Given the description of an element on the screen output the (x, y) to click on. 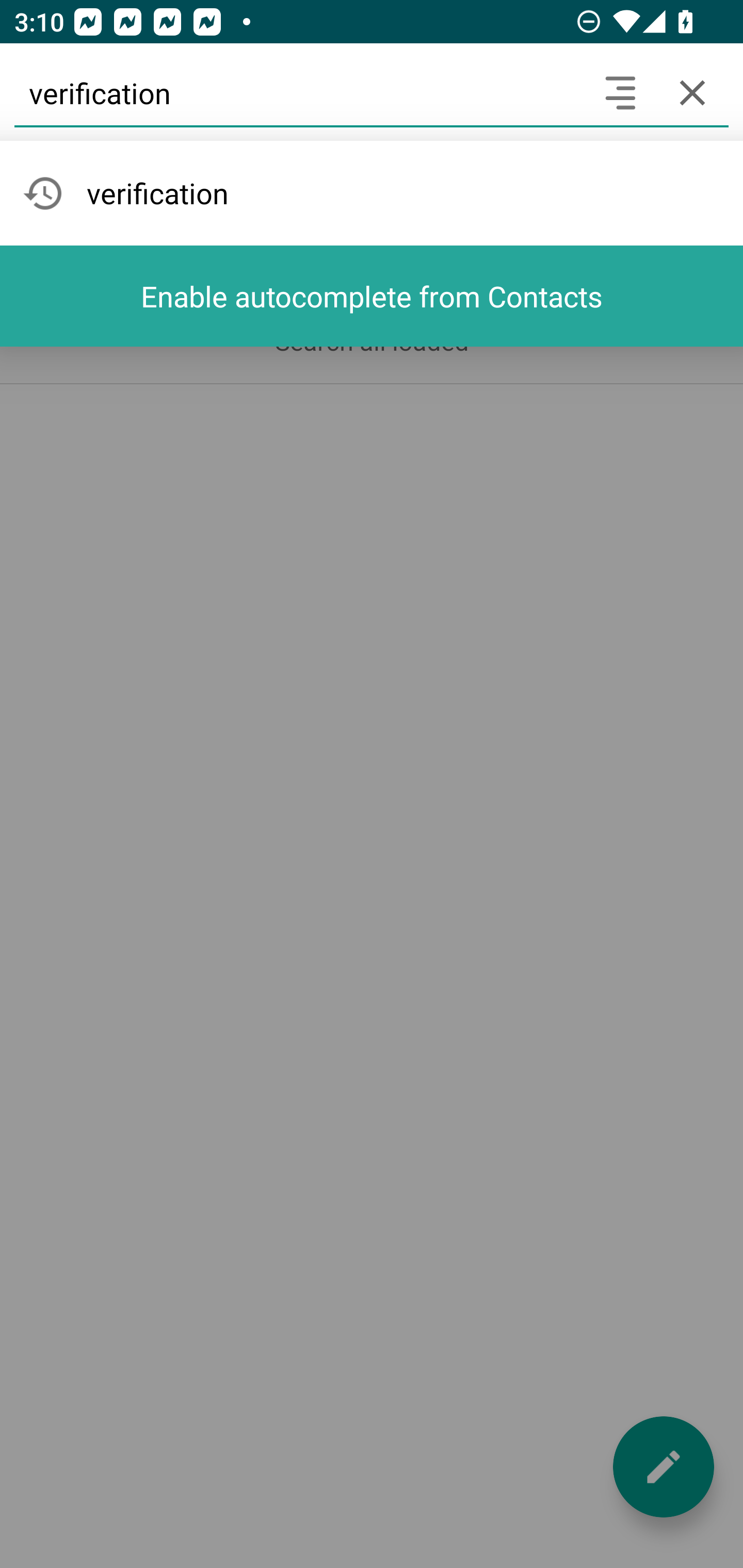
verification (298, 92)
Search headers and text (619, 92)
Cancel (692, 92)
